Given the description of an element on the screen output the (x, y) to click on. 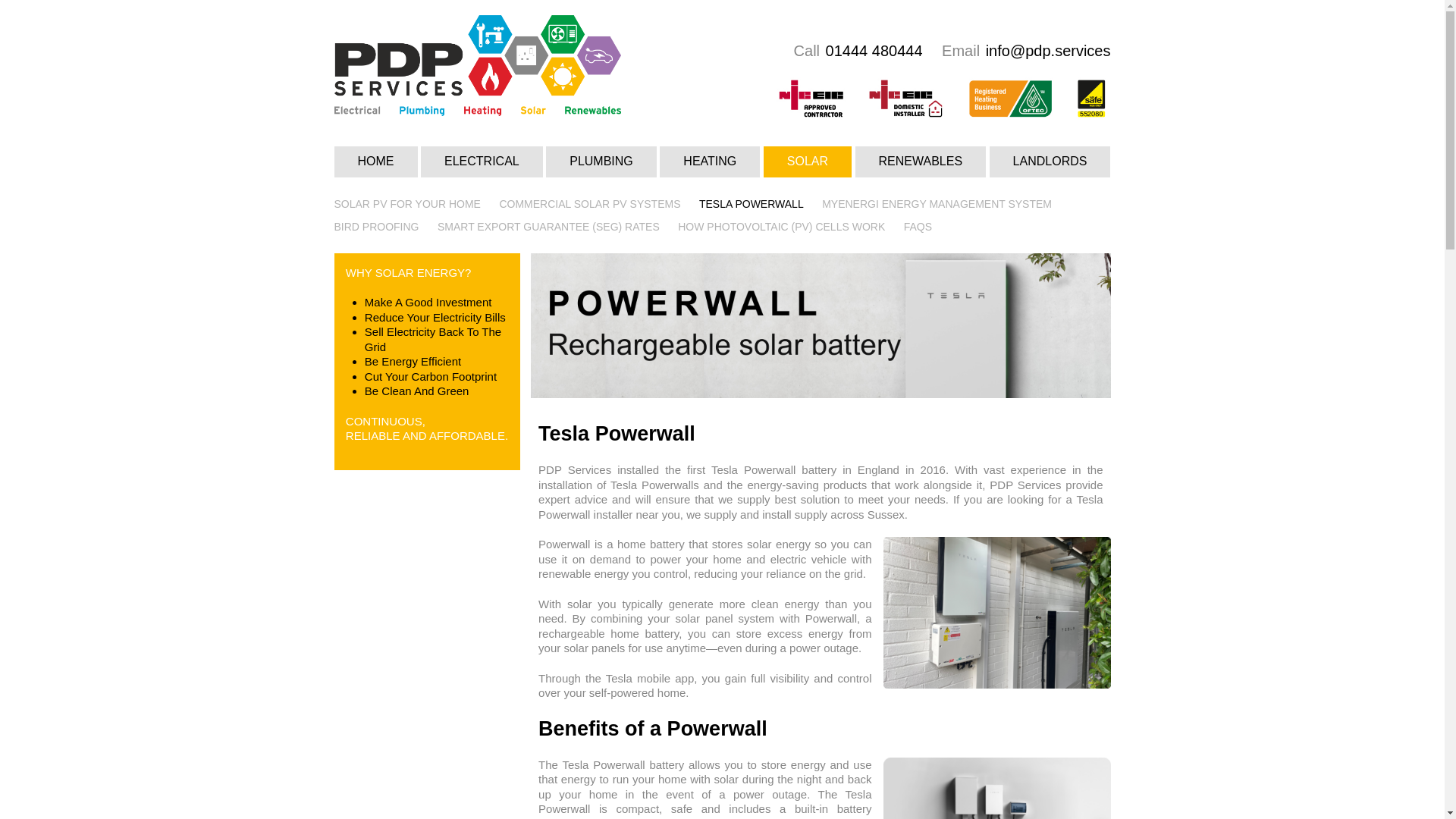
PLUMBING (601, 161)
01444 480444 (874, 50)
SOLAR (806, 161)
HOME (374, 161)
HEATING (709, 161)
BIRD PROOFING (376, 226)
LANDLORDS (1050, 161)
COMMERCIAL SOLAR PV SYSTEMS (589, 203)
FAQS (917, 226)
ELECTRICAL (481, 161)
